Given the description of an element on the screen output the (x, y) to click on. 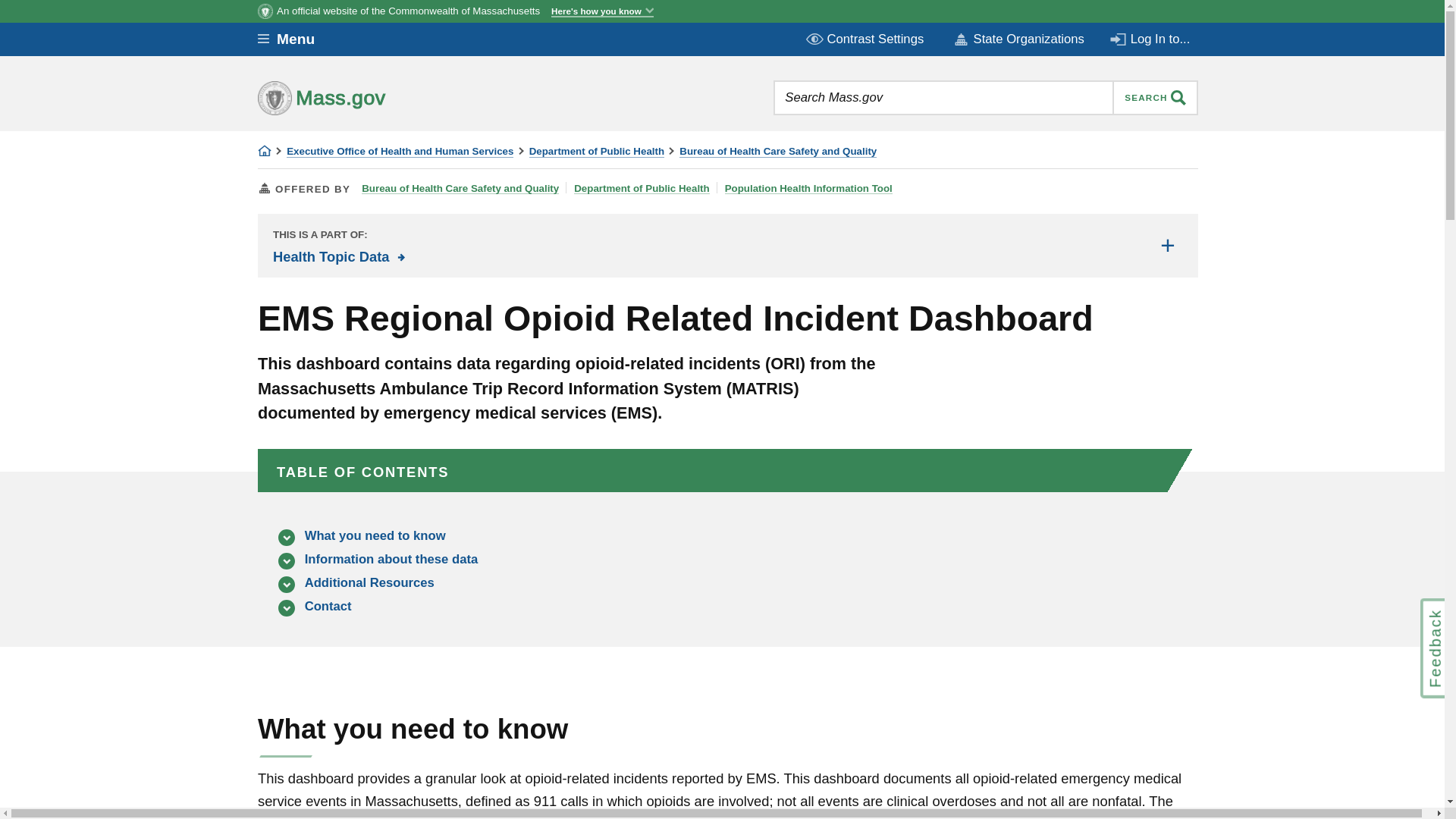
Mass.gov home page (369, 97)
Log In to... (1151, 38)
Contrast Settings (866, 38)
State Organizations (1018, 39)
Menu (297, 39)
